Given the description of an element on the screen output the (x, y) to click on. 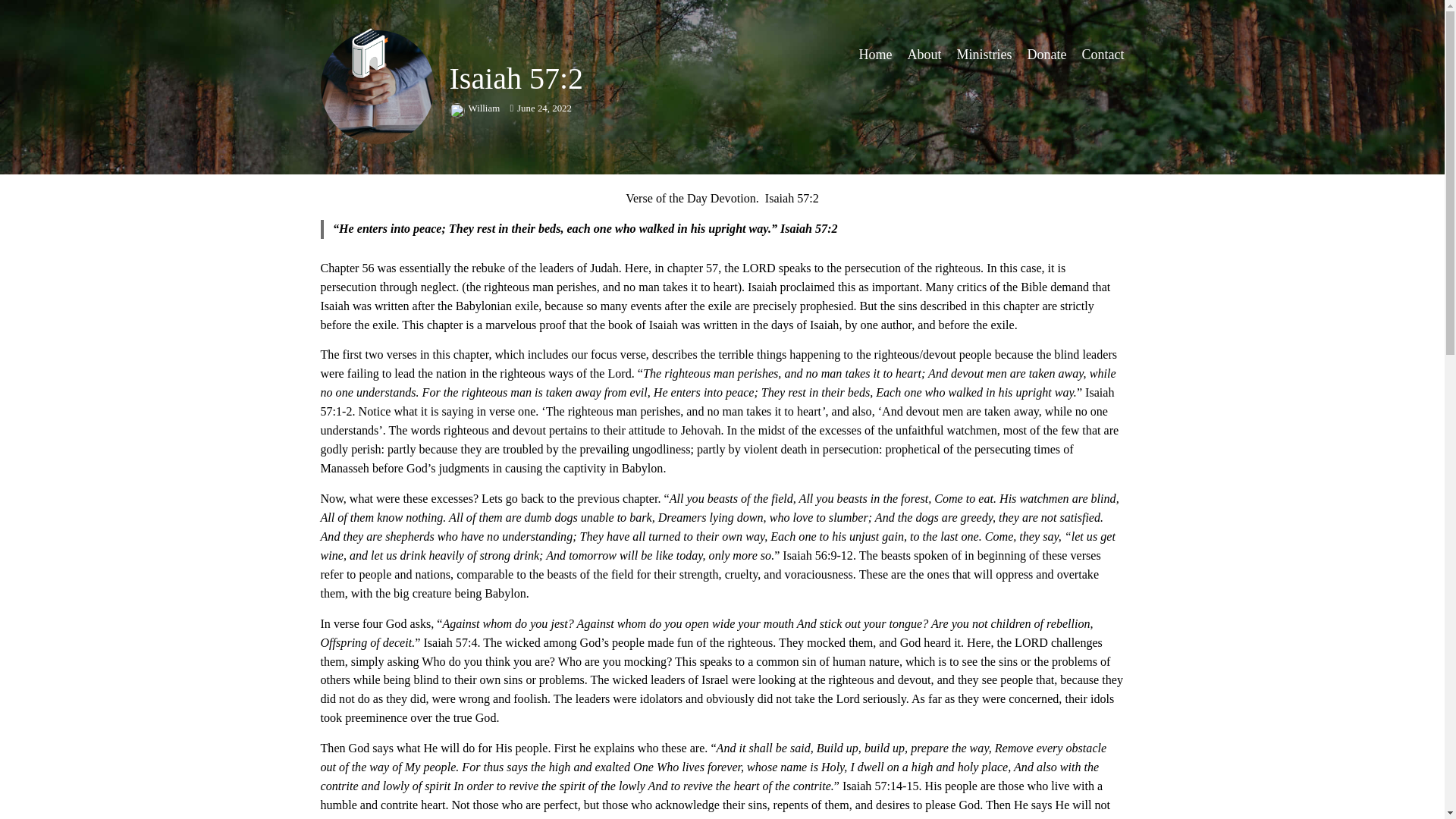
Home (875, 55)
True Devotion Ministries! (423, 54)
William (475, 108)
June 24, 2022 (540, 108)
8:53 pm (540, 108)
Donate (1047, 55)
View all posts by William (475, 108)
About (923, 55)
Ministries (983, 55)
Contact (1102, 55)
